Given the description of an element on the screen output the (x, y) to click on. 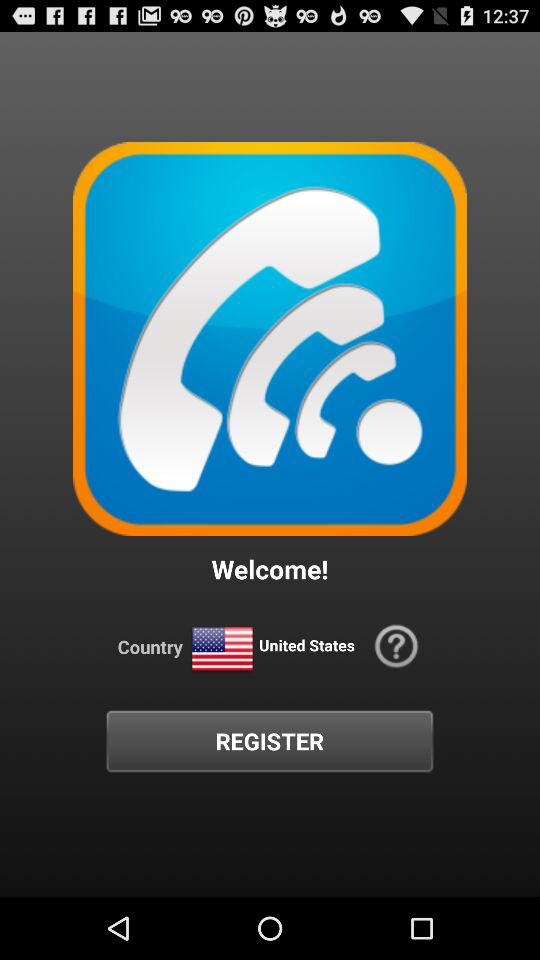
tap item next to united states app (221, 649)
